Given the description of an element on the screen output the (x, y) to click on. 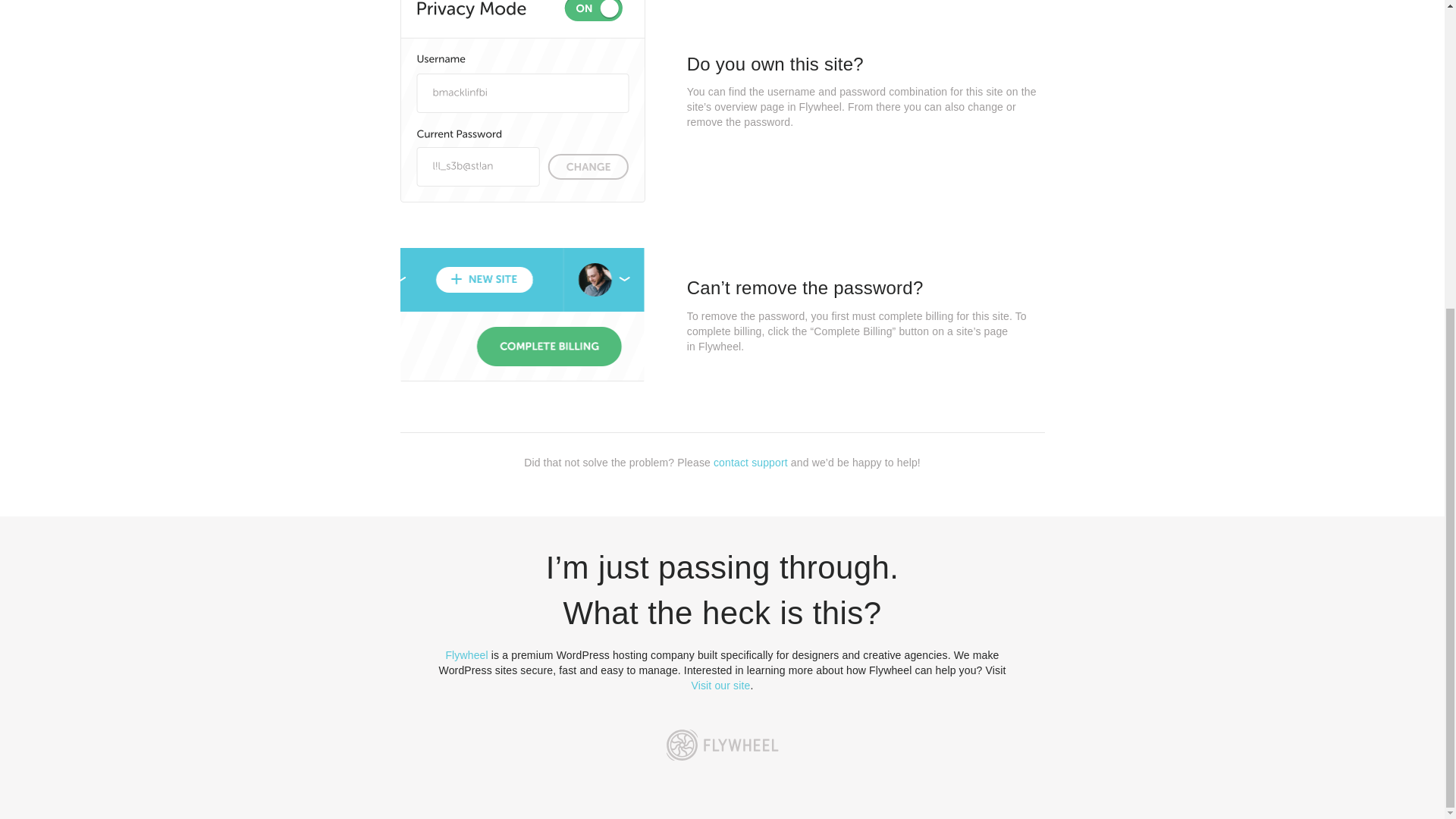
Visit our site (721, 685)
contact support (750, 462)
Flywheel (466, 654)
